Given the description of an element on the screen output the (x, y) to click on. 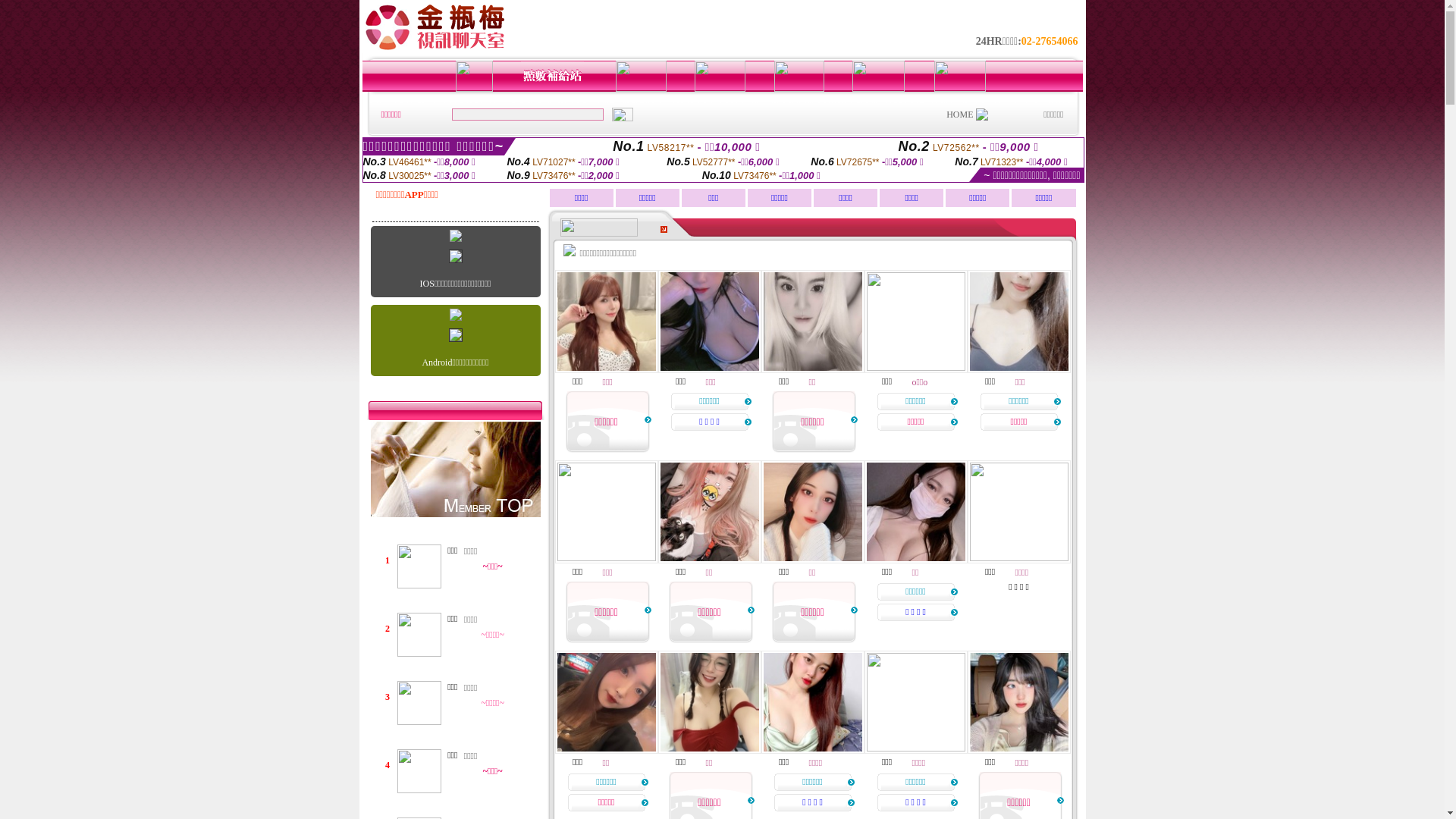
HOME Element type: text (959, 114)
